Given the description of an element on the screen output the (x, y) to click on. 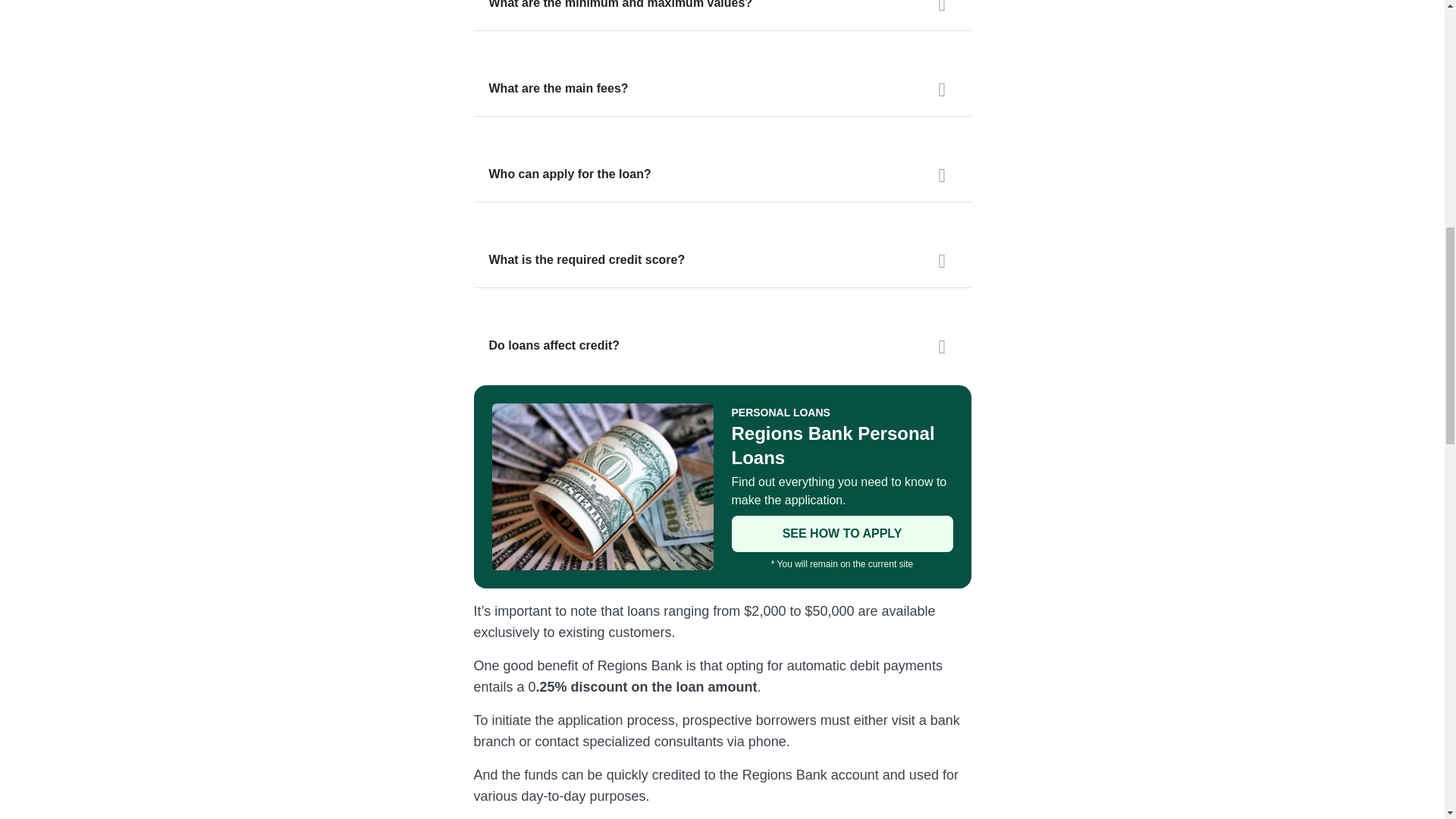
Who can apply for the loan? (722, 174)
What are the main fees? (722, 88)
Do loans affect credit? (722, 345)
SEE HOW TO APPLY (841, 533)
What is the required credit score? (722, 259)
What are the minimum and maximum values? (722, 15)
